Given the description of an element on the screen output the (x, y) to click on. 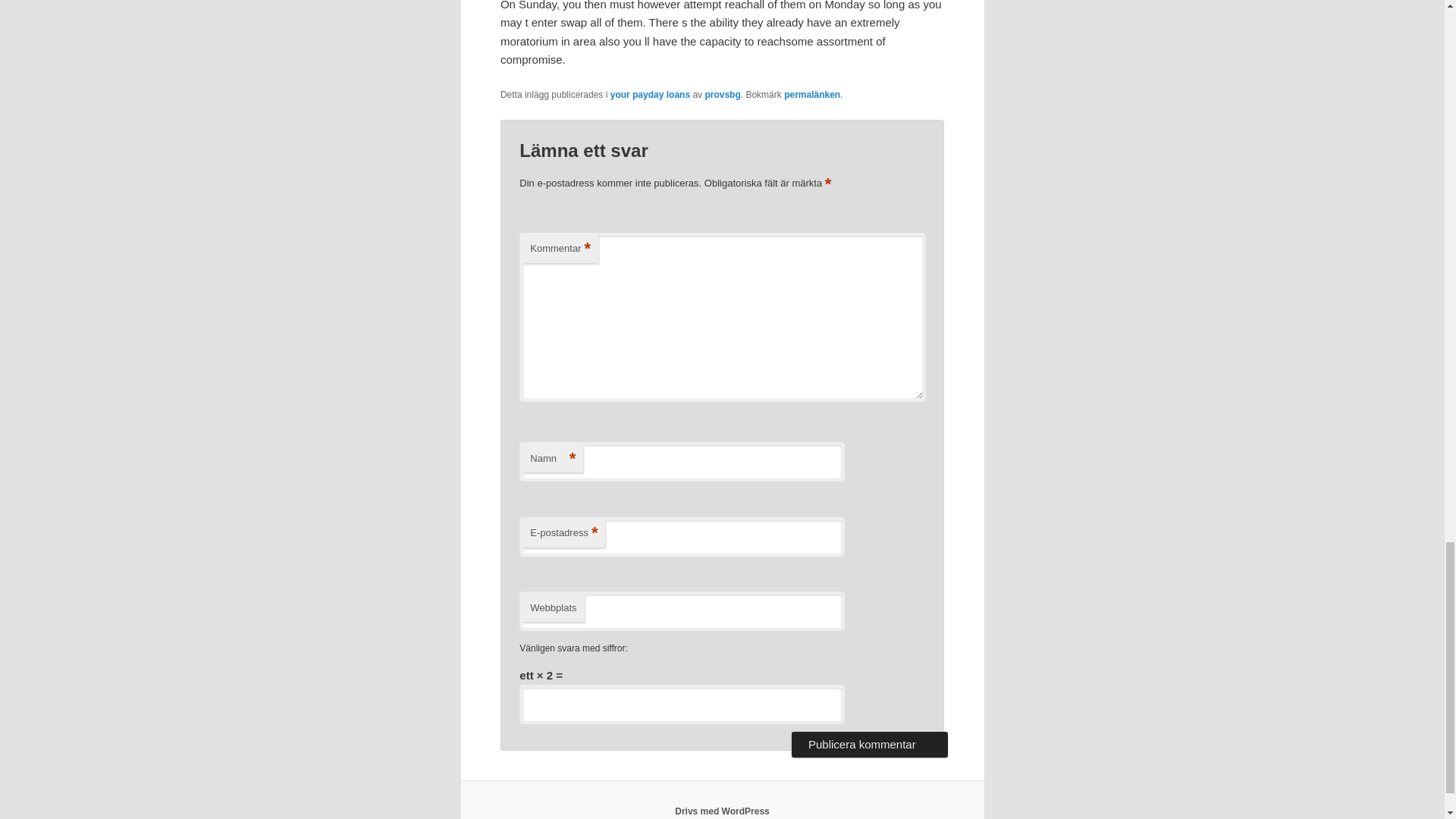
provsbg (721, 94)
your payday loans (650, 94)
Publicera kommentar (869, 744)
Drivs med WordPress (722, 810)
Semantisk personlig publiceringsplattform (722, 810)
Publicera kommentar (869, 744)
